Given the description of an element on the screen output the (x, y) to click on. 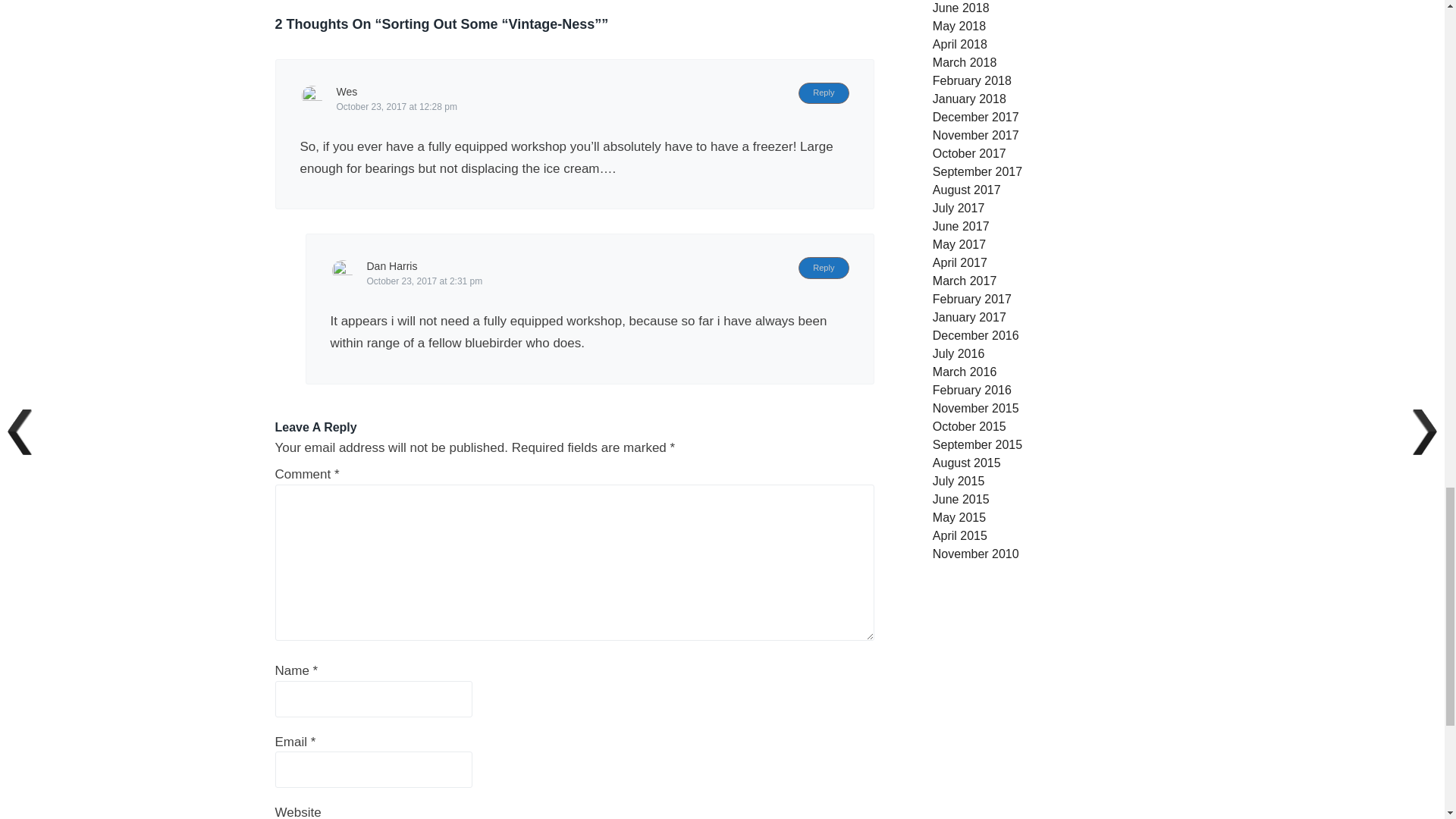
October 23, 2017 at 2:31 pm (424, 281)
Reply (823, 93)
Reply (823, 267)
October 23, 2017 at 12:28 pm (396, 106)
